Given the description of an element on the screen output the (x, y) to click on. 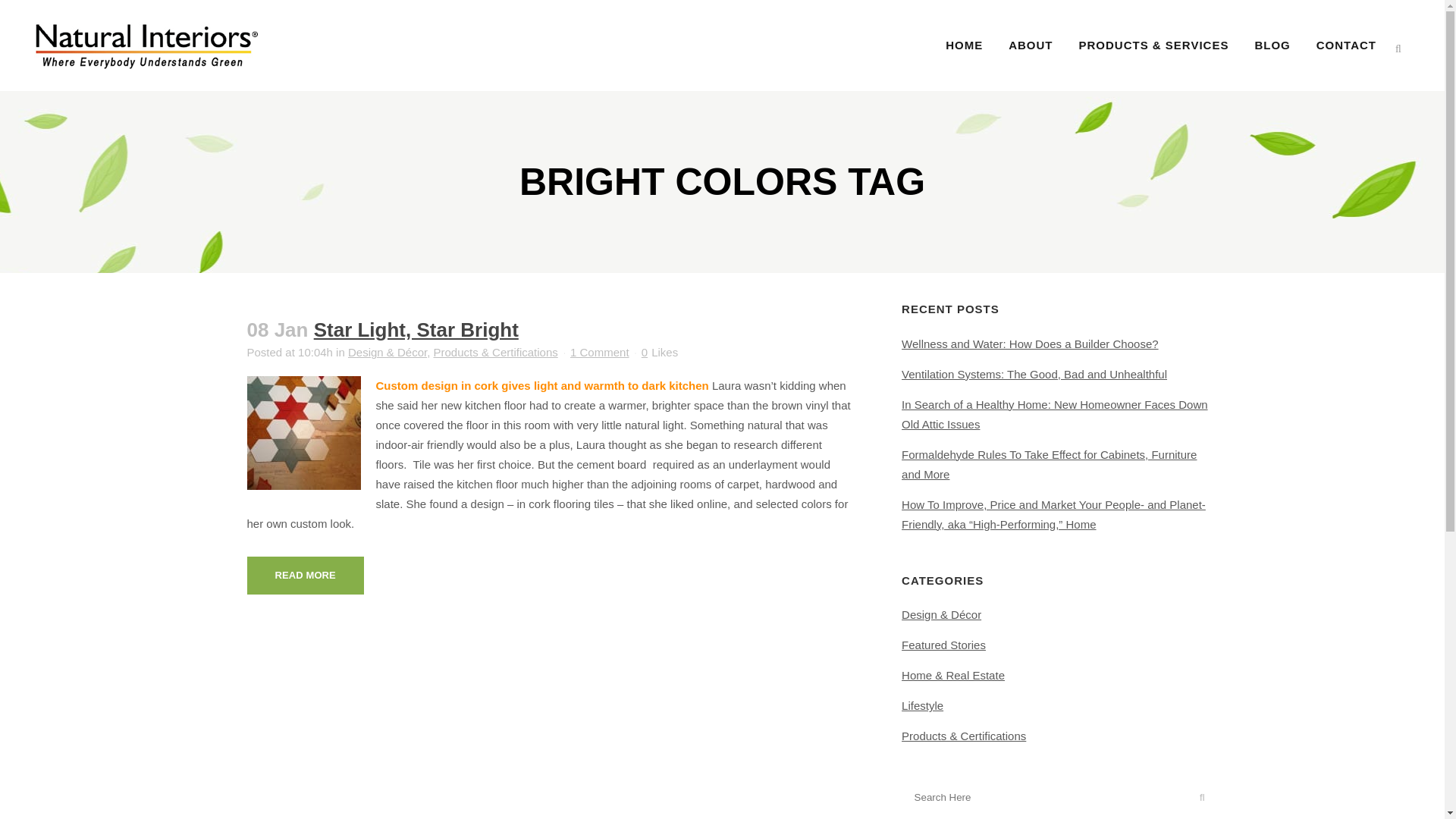
Star Light, Star Bright (416, 329)
Wellness and Water: How Does a Builder Choose? (1029, 343)
Lifestyle (922, 705)
1 Comment (599, 351)
Ventilation Systems: The Good, Bad and Unhealthful (1034, 373)
READ MORE (305, 575)
CONTACT (1346, 45)
Featured Stories (943, 644)
0 Likes (660, 352)
Star Light, Star Bright (416, 329)
Like this (660, 352)
